Given the description of an element on the screen output the (x, y) to click on. 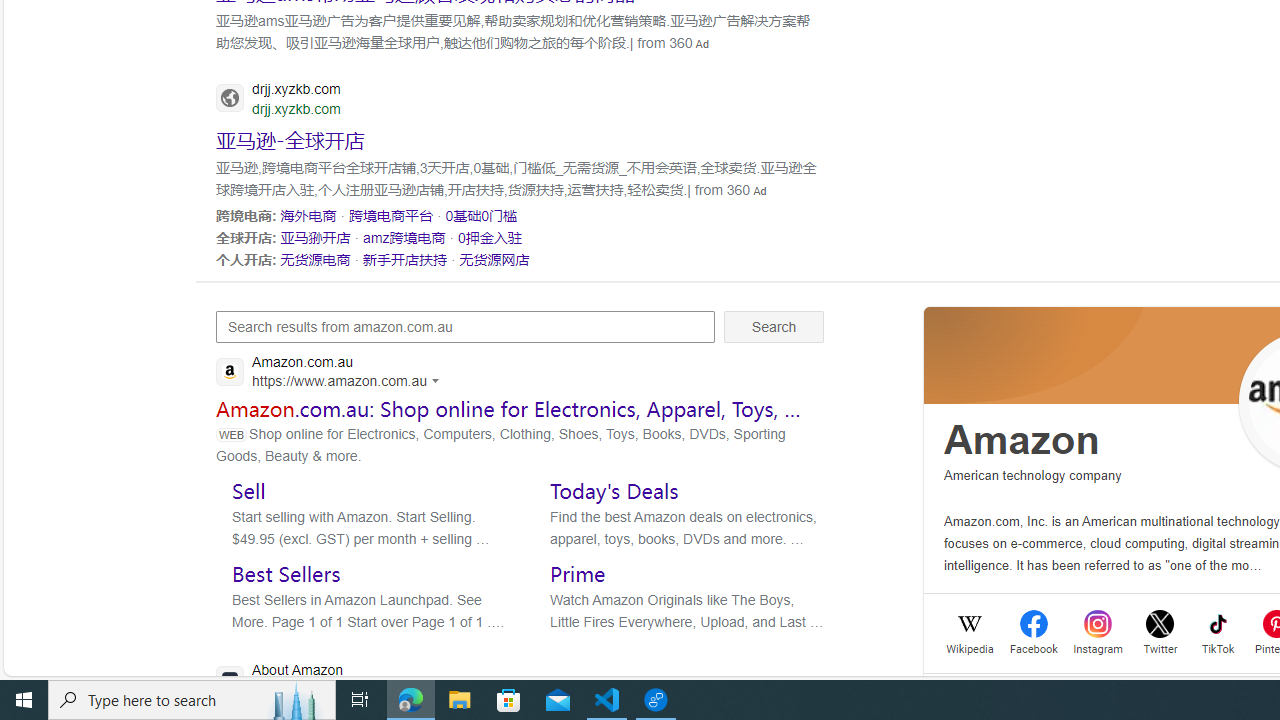
SERP,5569 (315, 237)
Facebook (1033, 646)
SERP,5571 (489, 237)
SERP,5566 (308, 215)
